Given the description of an element on the screen output the (x, y) to click on. 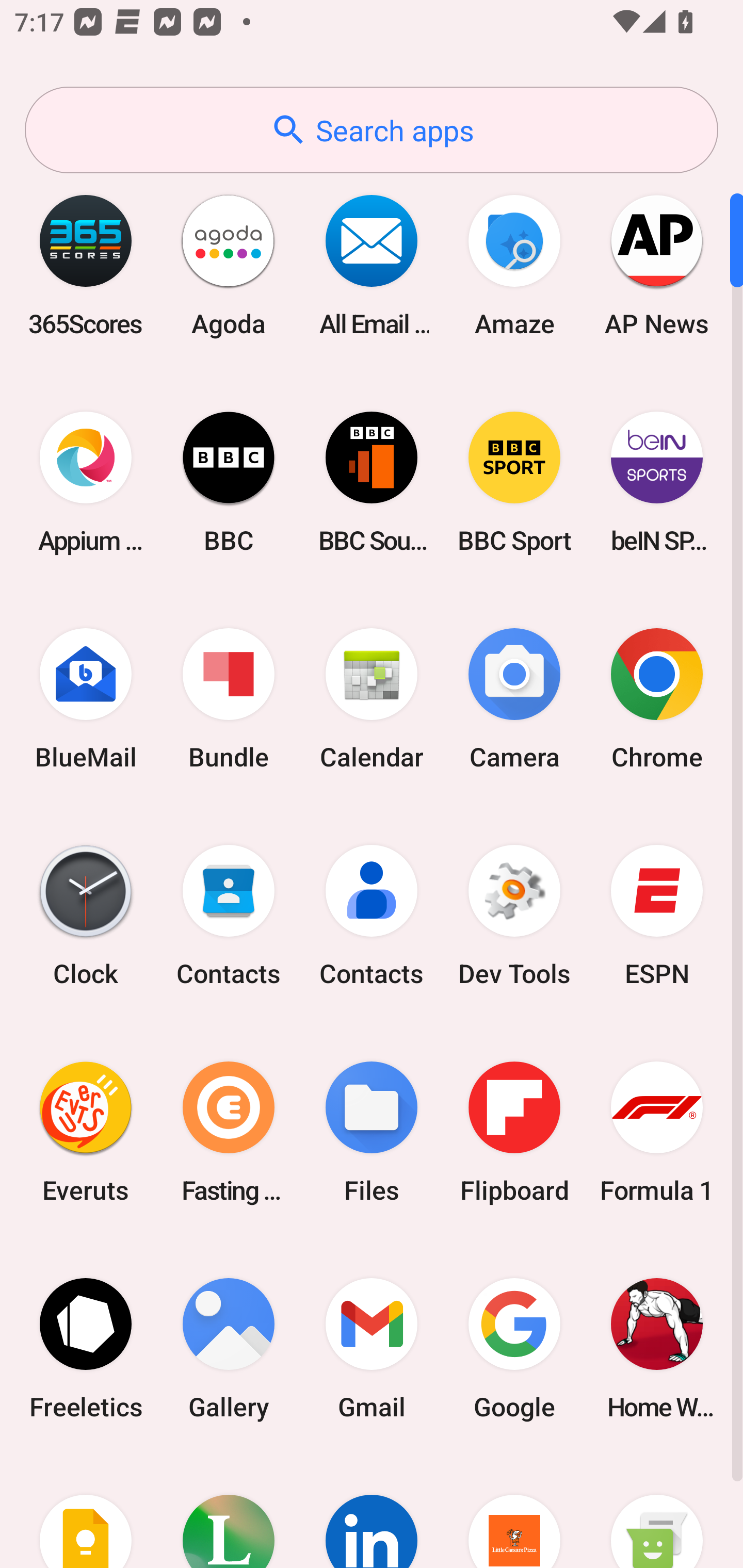
  Search apps (371, 130)
365Scores (85, 264)
Agoda (228, 264)
All Email Connect (371, 264)
Amaze (514, 264)
AP News (656, 264)
Appium Settings (85, 482)
BBC (228, 482)
BBC Sounds (371, 482)
BBC Sport (514, 482)
beIN SPORTS (656, 482)
BlueMail (85, 699)
Bundle (228, 699)
Calendar (371, 699)
Camera (514, 699)
Chrome (656, 699)
Clock (85, 915)
Contacts (228, 915)
Contacts (371, 915)
Dev Tools (514, 915)
ESPN (656, 915)
Everuts (85, 1131)
Fasting Coach (228, 1131)
Files (371, 1131)
Flipboard (514, 1131)
Formula 1 (656, 1131)
Freeletics (85, 1348)
Gallery (228, 1348)
Gmail (371, 1348)
Google (514, 1348)
Home Workout (656, 1348)
Keep Notes (85, 1512)
Lifesum (228, 1512)
LinkedIn (371, 1512)
Little Caesars Pizza (514, 1512)
Messaging (656, 1512)
